Given the description of an element on the screen output the (x, y) to click on. 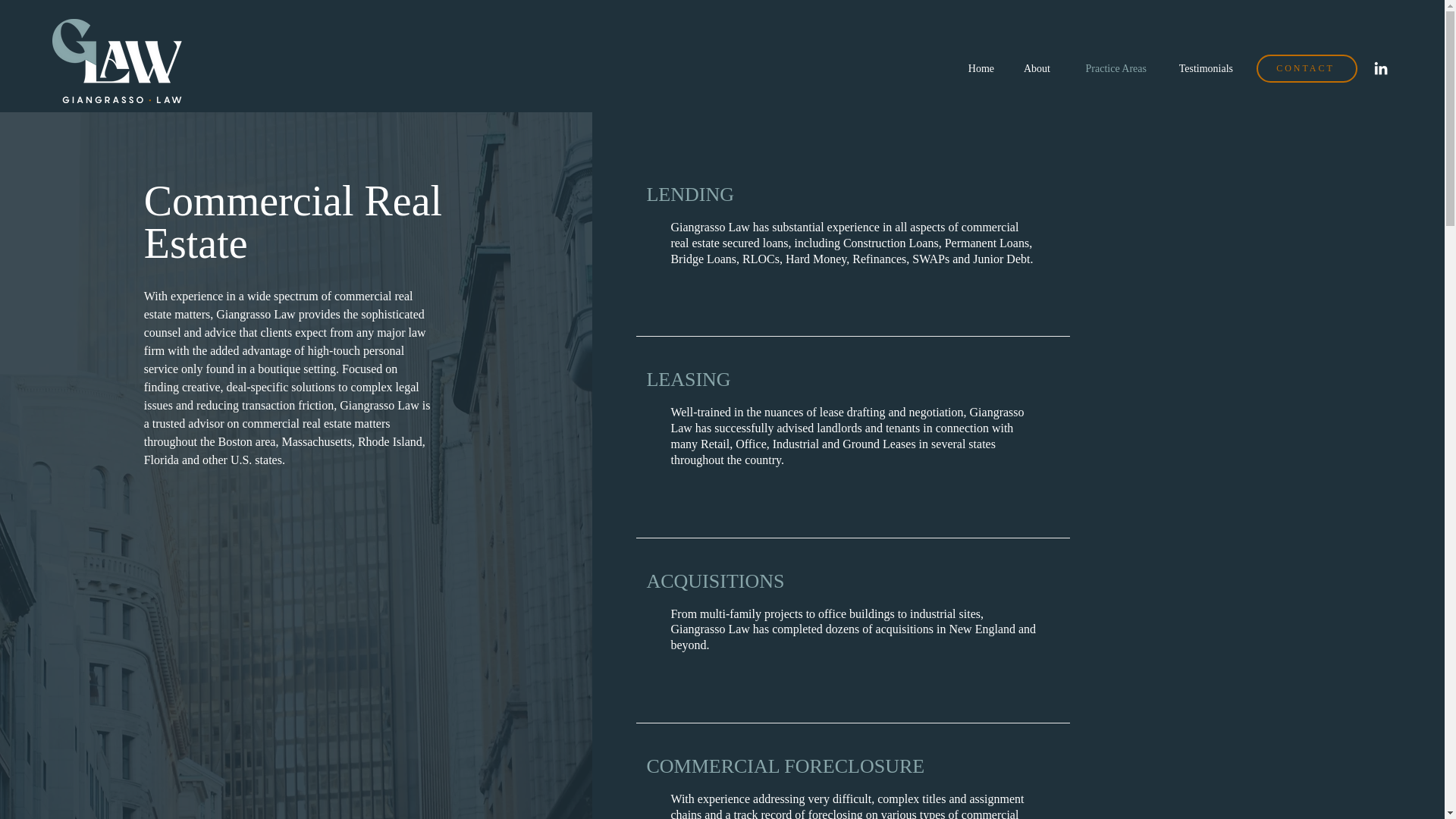
Home (978, 68)
Practice Areas (1109, 68)
Testimonials (1200, 68)
CONTACT (1306, 68)
About (1033, 68)
